Given the description of an element on the screen output the (x, y) to click on. 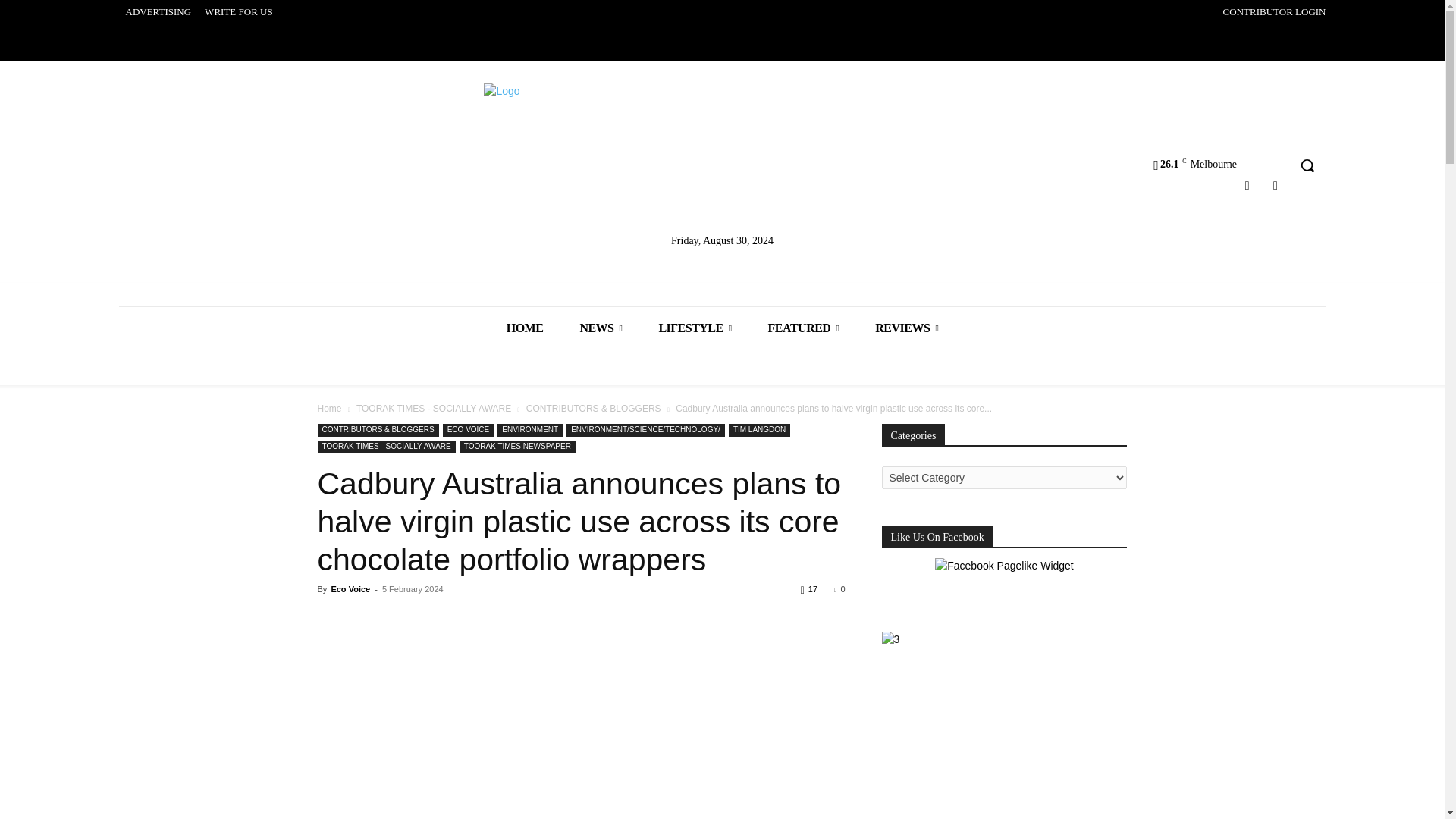
ADVERTISING (157, 12)
View all posts in TOORAK TIMES - SOCIALLY AWARE (433, 408)
topFacebookLike (430, 616)
Facebook (1246, 185)
WRITE FOR US (238, 12)
CONTRIBUTOR LOGIN (1274, 12)
Youtube (1275, 185)
